Given the description of an element on the screen output the (x, y) to click on. 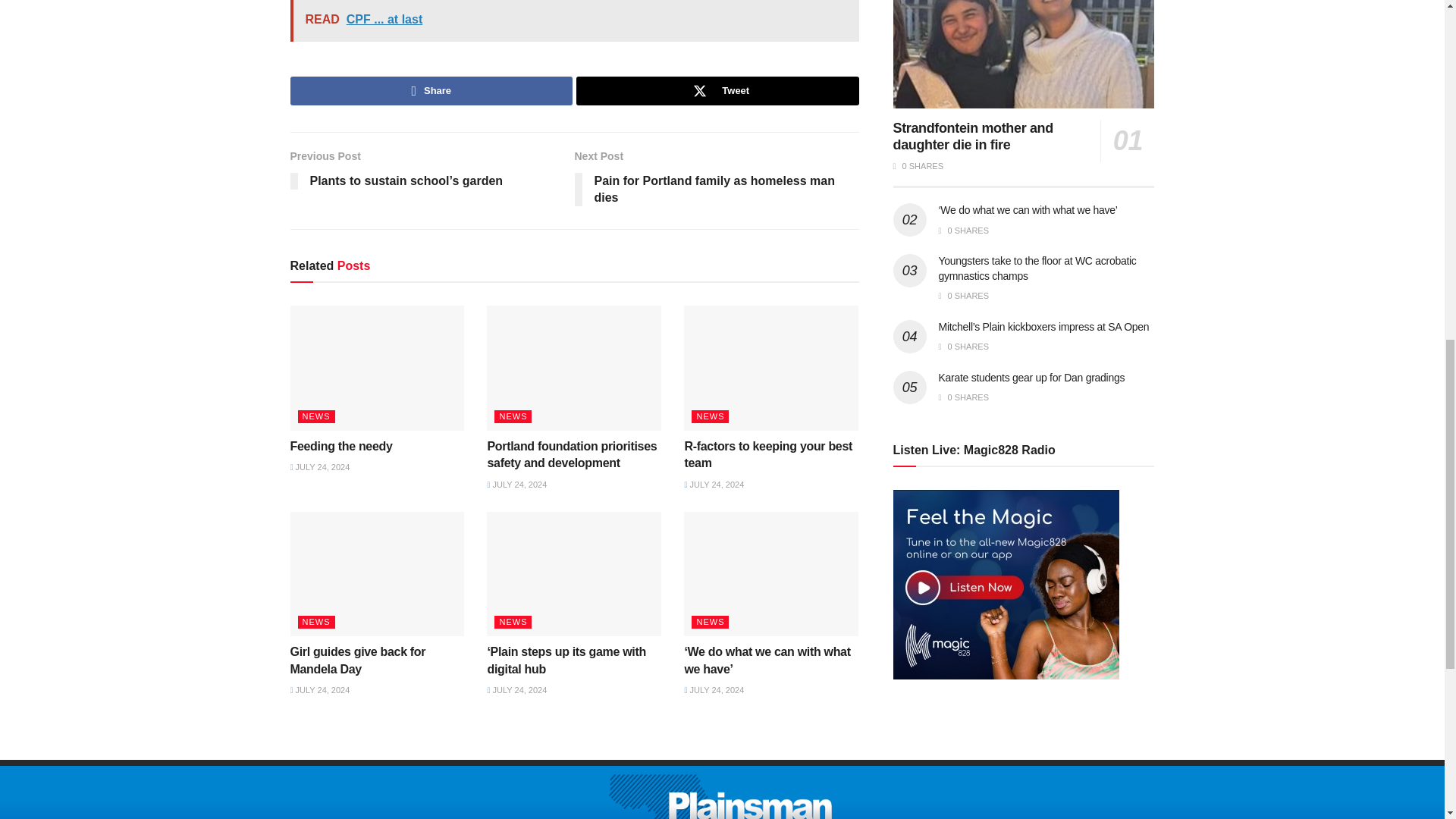
Share (430, 90)
READ  CPF ... at last (574, 20)
